Given the description of an element on the screen output the (x, y) to click on. 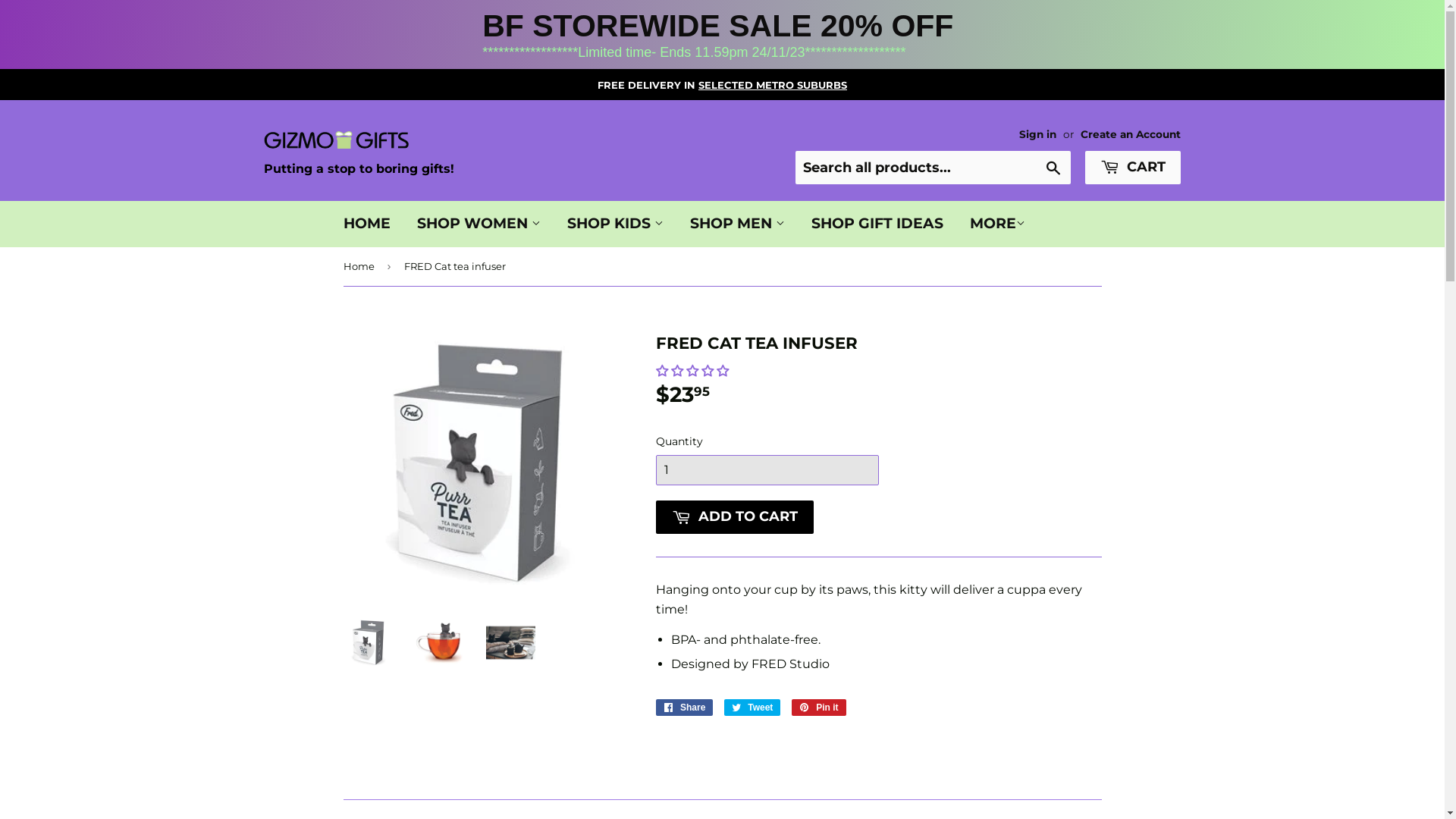
SHOP GIFT IDEAS Element type: text (876, 223)
ADD TO CART Element type: text (733, 516)
HOME Element type: text (366, 223)
Tweet
Tweet on Twitter Element type: text (752, 707)
Search Element type: text (1053, 168)
SHOP WOMEN Element type: text (477, 223)
Pin it
Pin on Pinterest Element type: text (818, 707)
CART Element type: text (1132, 167)
SHOP MEN Element type: text (736, 223)
Home Element type: text (360, 266)
Create an Account Element type: text (1130, 134)
FREE DELIVERY IN SELECTED METRO SUBURBS Element type: text (722, 84)
SHOP KIDS Element type: text (614, 223)
Sign in Element type: text (1037, 134)
MORE Element type: text (997, 223)
Share
Share on Facebook Element type: text (683, 707)
